Given the description of an element on the screen output the (x, y) to click on. 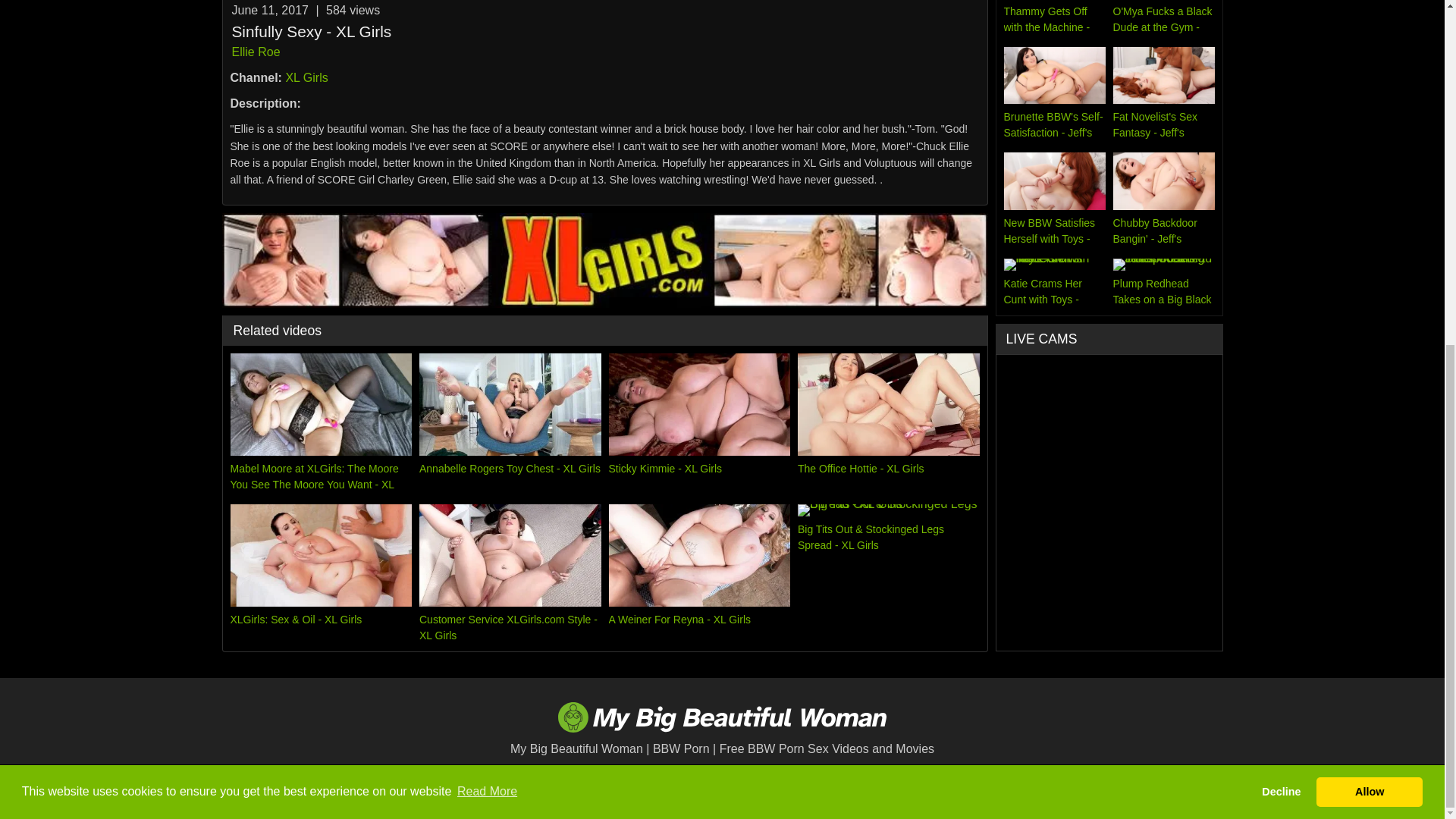
XL Girls (306, 77)
Ellie Roe (256, 51)
The Office Hottie - XL Girls (888, 422)
Sticky Kimmie - XL Girls (699, 422)
Annabelle Rogers Toy Chest - XL Girls (510, 422)
